Given the description of an element on the screen output the (x, y) to click on. 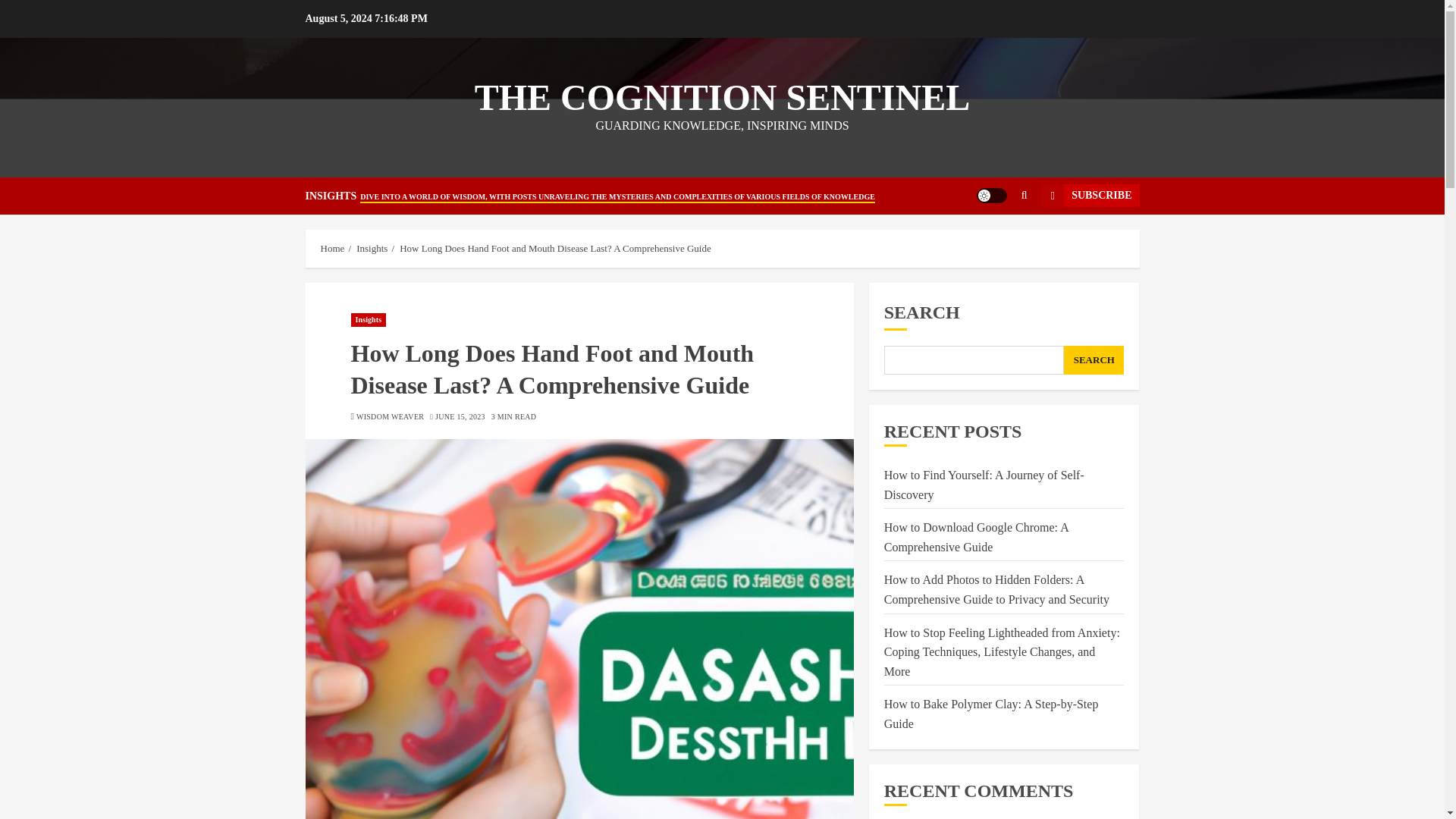
How to Bake Polymer Clay: A Step-by-Step Guide (991, 714)
Home (331, 248)
SEARCH (1094, 359)
How to Find Yourself: A Journey of Self-Discovery (983, 485)
Insights (371, 248)
Insights (367, 319)
Search (994, 241)
THE COGNITION SENTINEL (722, 96)
